Given the description of an element on the screen output the (x, y) to click on. 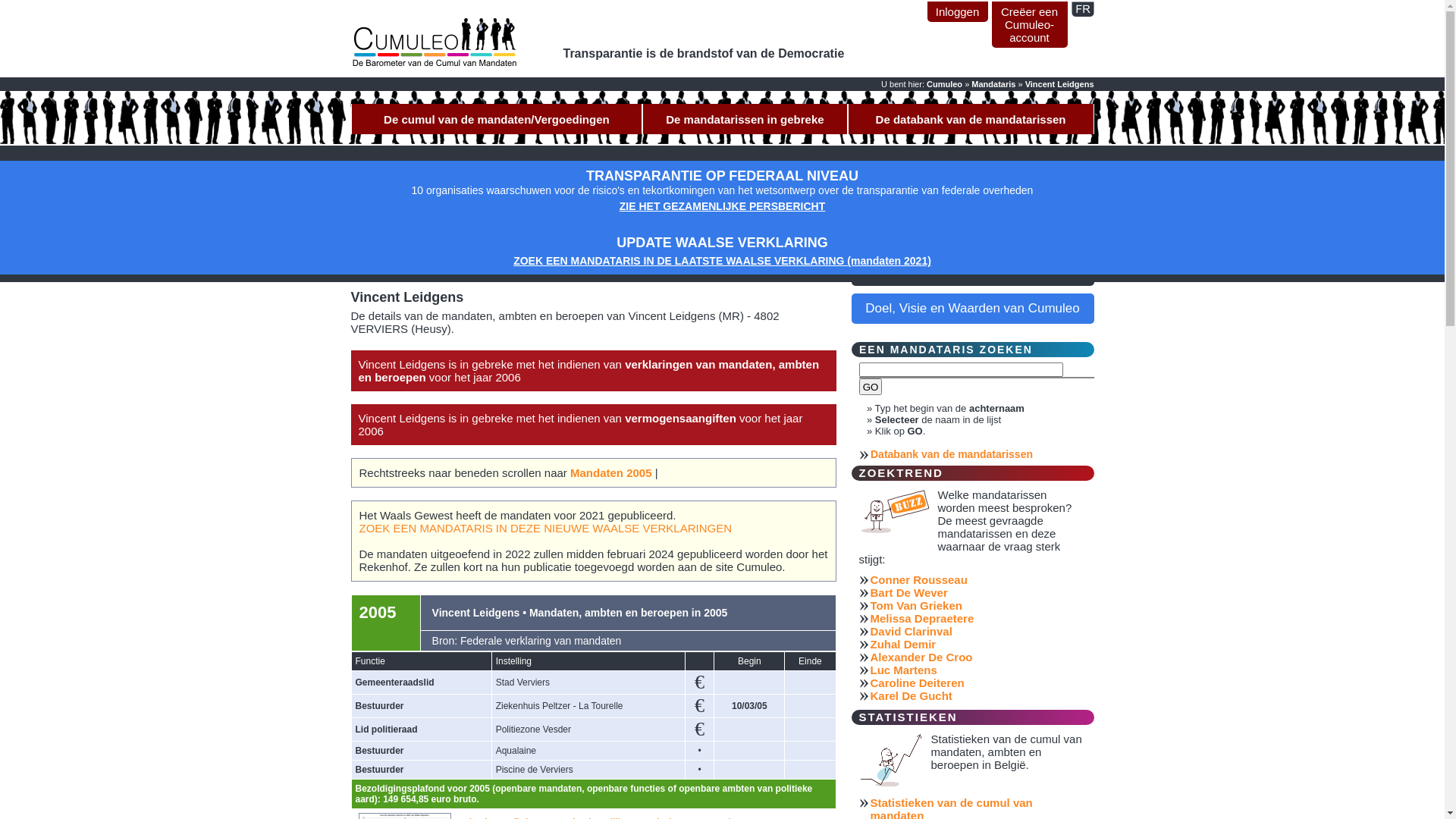
Zuhal Demir Element type: text (975, 643)
Vincent Leidgens Element type: text (1059, 83)
Conner Rousseau Element type: text (975, 579)
Caroline Deiteren Element type: text (975, 682)
Karel De Gucht Element type: text (975, 695)
Cumuleo: De barometer van de cumul van mandaten Element type: text (433, 43)
Mandataris Element type: text (993, 83)
Cumuleo Element type: text (944, 83)
De mandatarissen in gebreke Element type: text (744, 118)
ZOEK EEN MANDATARIS IN DEZE NIEUWE WAALSE VERKLARINGEN Element type: text (545, 527)
Tom Van Grieken Element type: text (975, 605)
Vincent Leidgens Element type: text (1081, 8)
Bart De Wever Element type: text (975, 592)
ZIE HET GEZAMENLIJKE PERSBERICHT Element type: text (722, 206)
De databank van de mandatarissen Element type: text (970, 118)
Inloggen Element type: text (956, 11)
De cumul van de mandaten/Vergoedingen Element type: text (496, 118)
Doel, Visie en Waarden van Cumuleo Element type: text (971, 308)
Luc Martens Element type: text (975, 669)
Melissa Depraetere Element type: text (975, 617)
David Clarinval Element type: text (975, 630)
Alexander De Croo Element type: text (975, 656)
Mandaten 2005 Element type: text (611, 472)
